Given the description of an element on the screen output the (x, y) to click on. 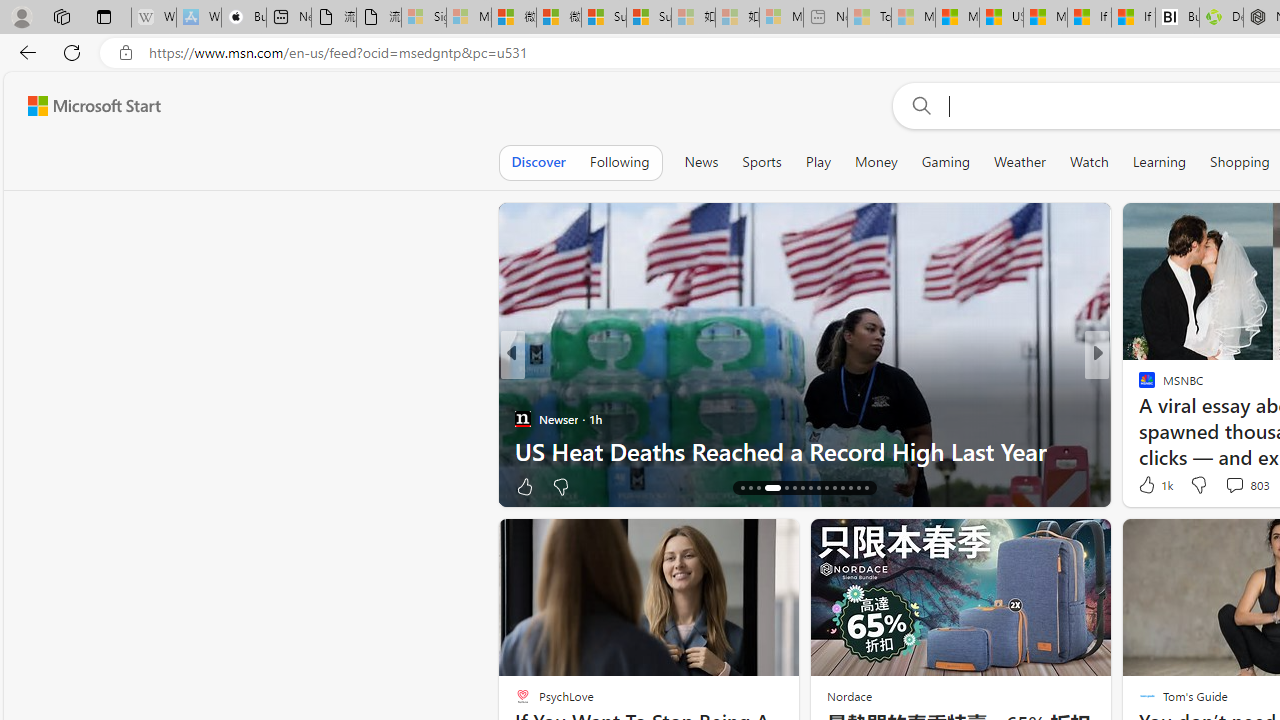
37 Like (1149, 486)
View comments 65 Comment (1244, 486)
View comments 21 Comment (1237, 486)
View comments 41 Comment (1237, 486)
336 Like (1151, 486)
View comments 25 Comment (11, 485)
